Given the description of an element on the screen output the (x, y) to click on. 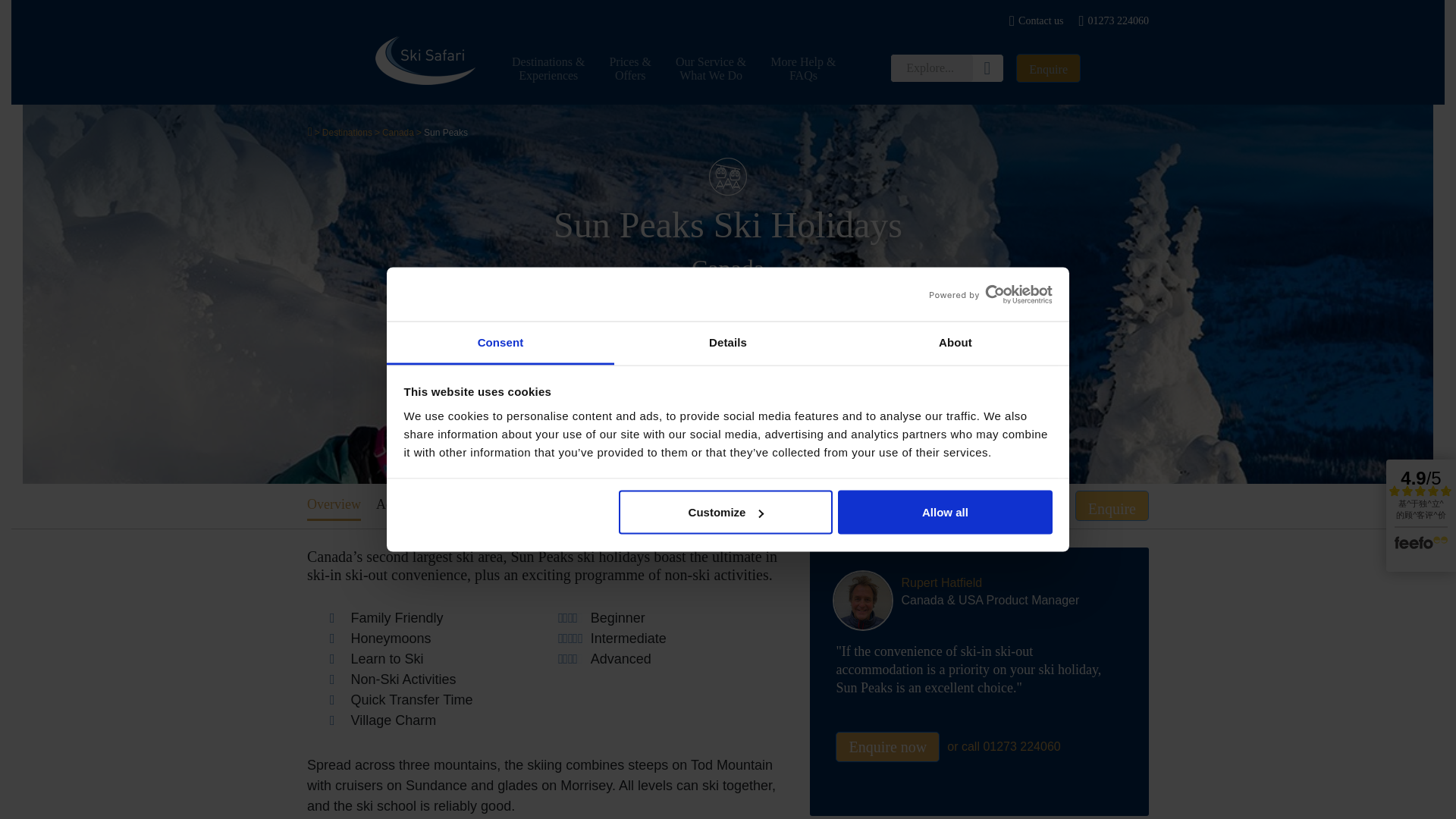
Consent (500, 342)
Rupert Hatfield - Headshot (862, 600)
About (954, 342)
Details (727, 342)
